Given the description of an element on the screen output the (x, y) to click on. 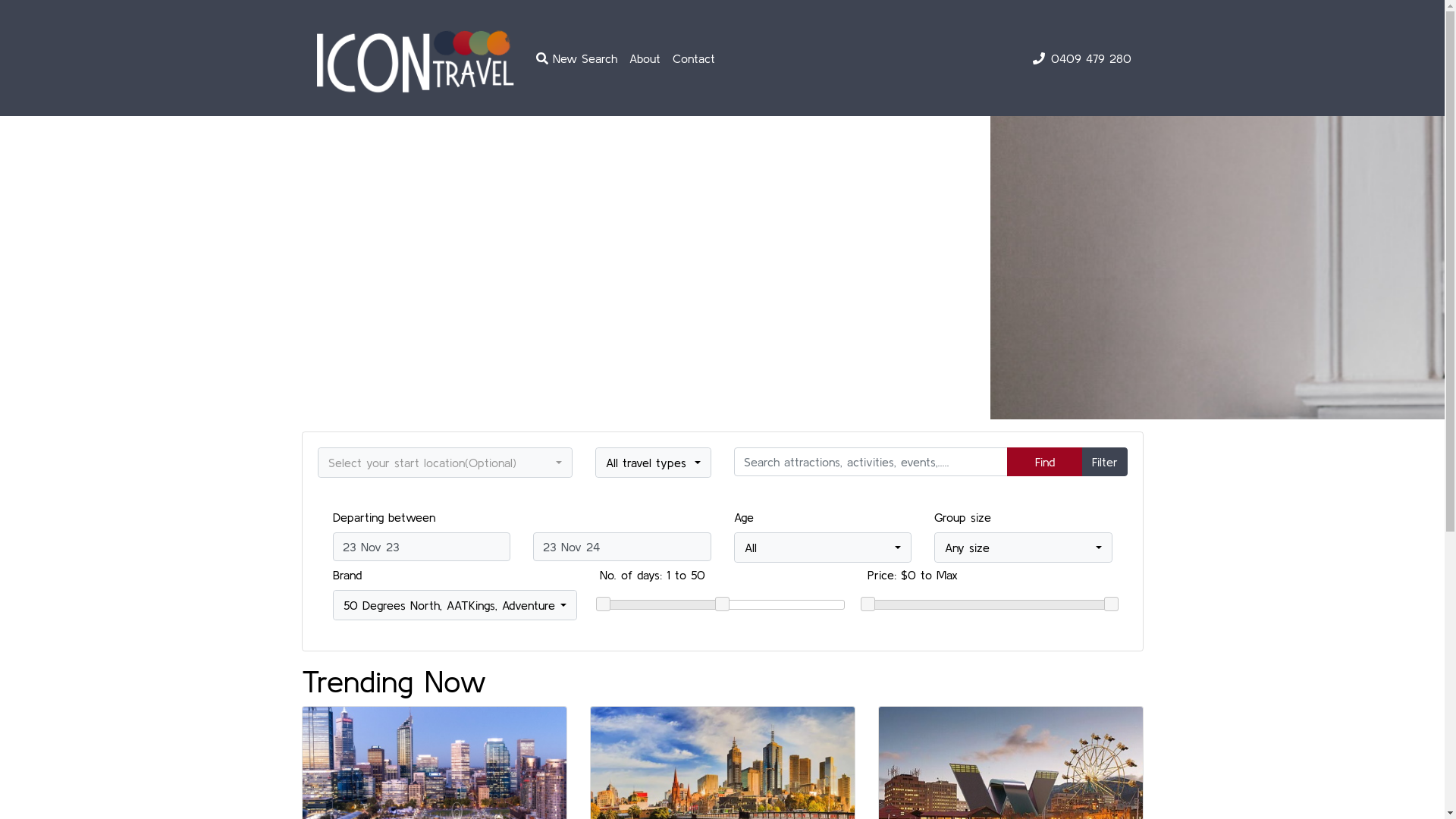
Find Element type: text (1044, 461)
 New Search Element type: text (576, 57)
Filter Element type: text (1103, 461)
Start Date Element type: hover (421, 546)
0409 479 280 Element type: text (1091, 58)
All travel types Element type: text (653, 462)
End Date Element type: hover (622, 546)
About Element type: text (644, 57)
Select your start location(Optional) Element type: text (444, 462)
All Element type: text (822, 547)
Contact Element type: text (693, 57)
Any size Element type: text (1023, 547)
